Given the description of an element on the screen output the (x, y) to click on. 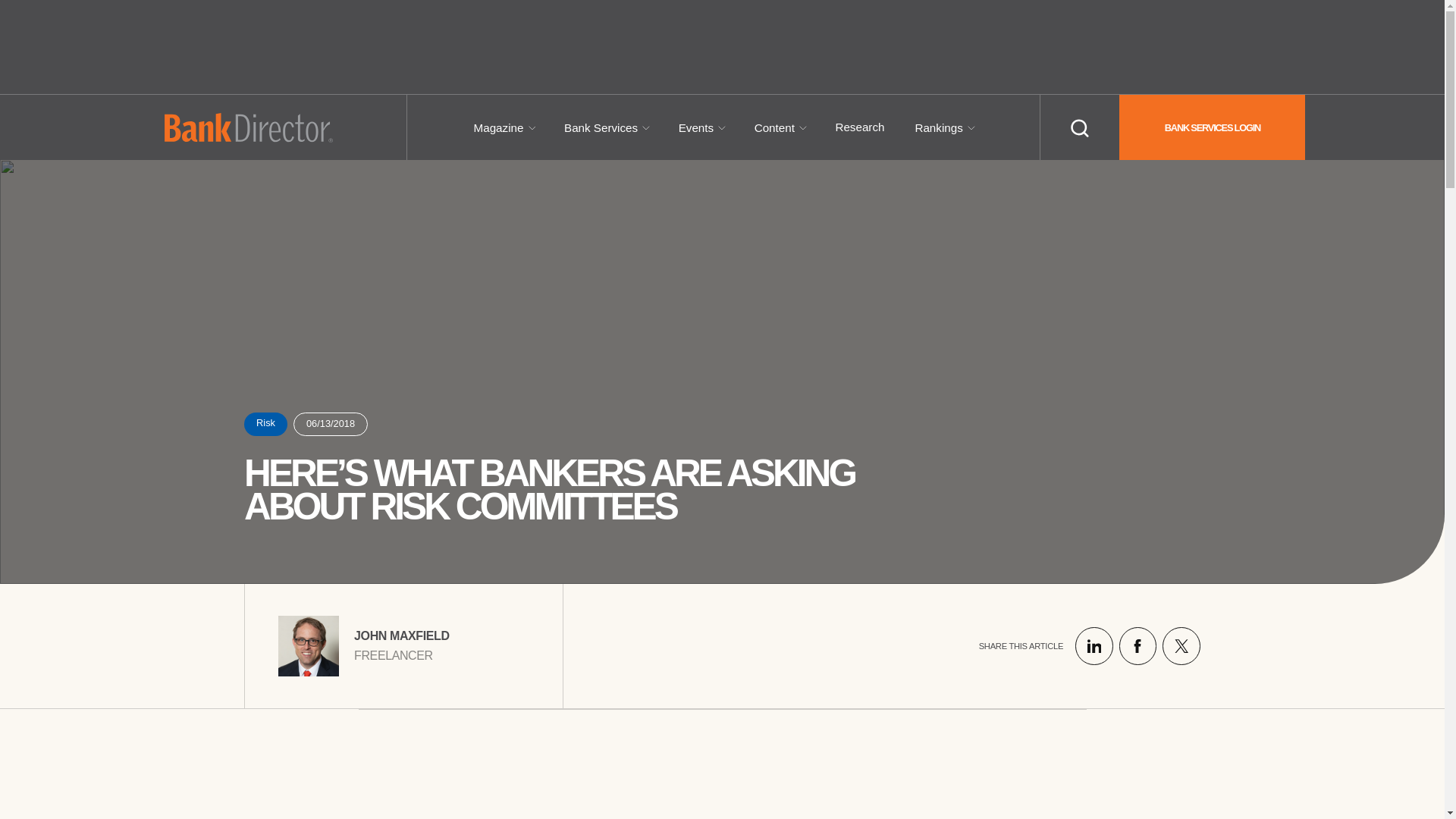
Magazine (499, 127)
Content (774, 127)
Bank Director (247, 127)
3rd party ad content (722, 47)
Bank Director (247, 127)
Events (695, 127)
Bank Services (600, 127)
